Given the description of an element on the screen output the (x, y) to click on. 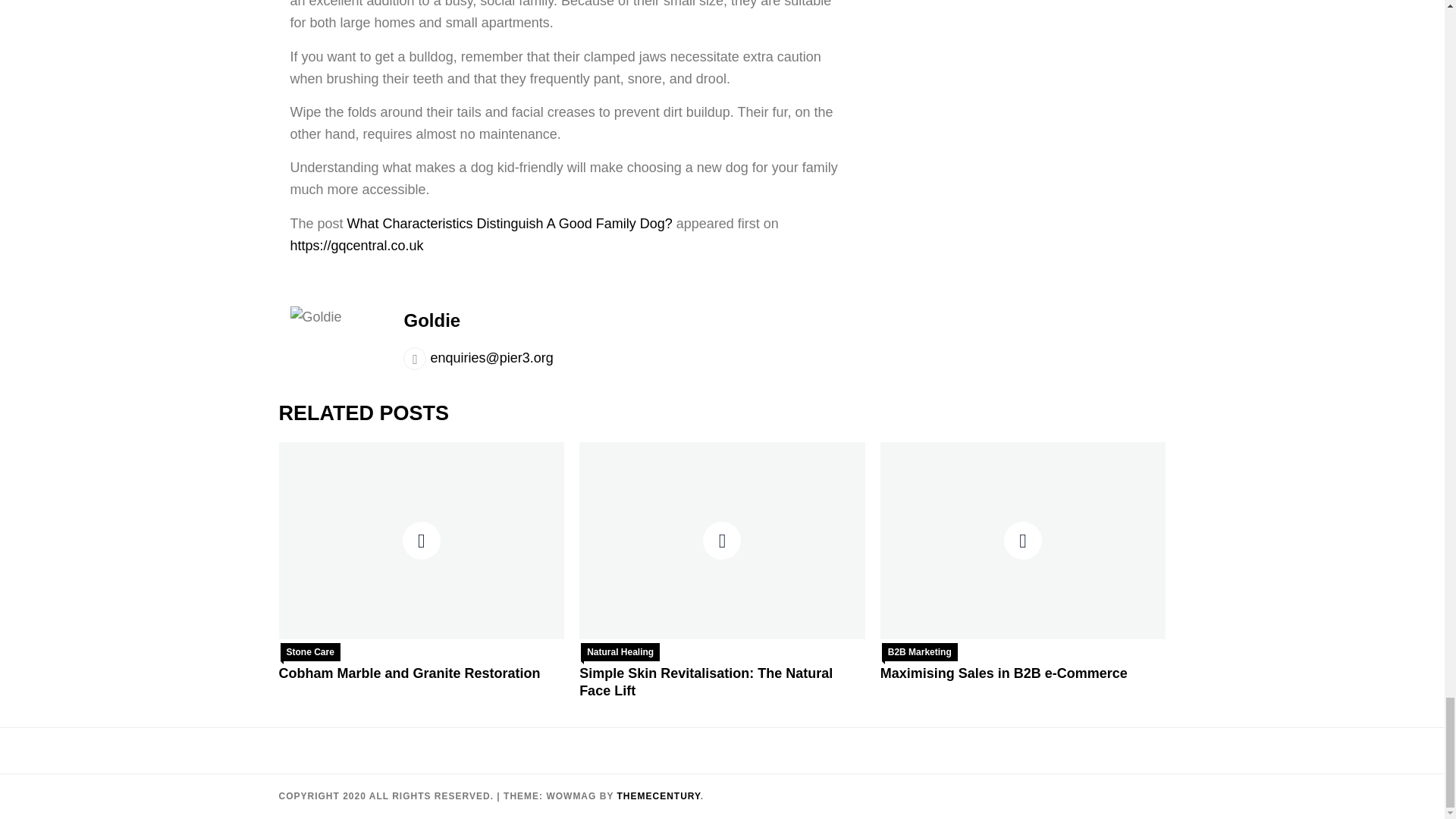
Stone Care (310, 651)
Cobham Marble and Granite Restoration (409, 672)
What Characteristics Distinguish A Good Family Dog? (509, 223)
Goldie (431, 320)
